Given the description of an element on the screen output the (x, y) to click on. 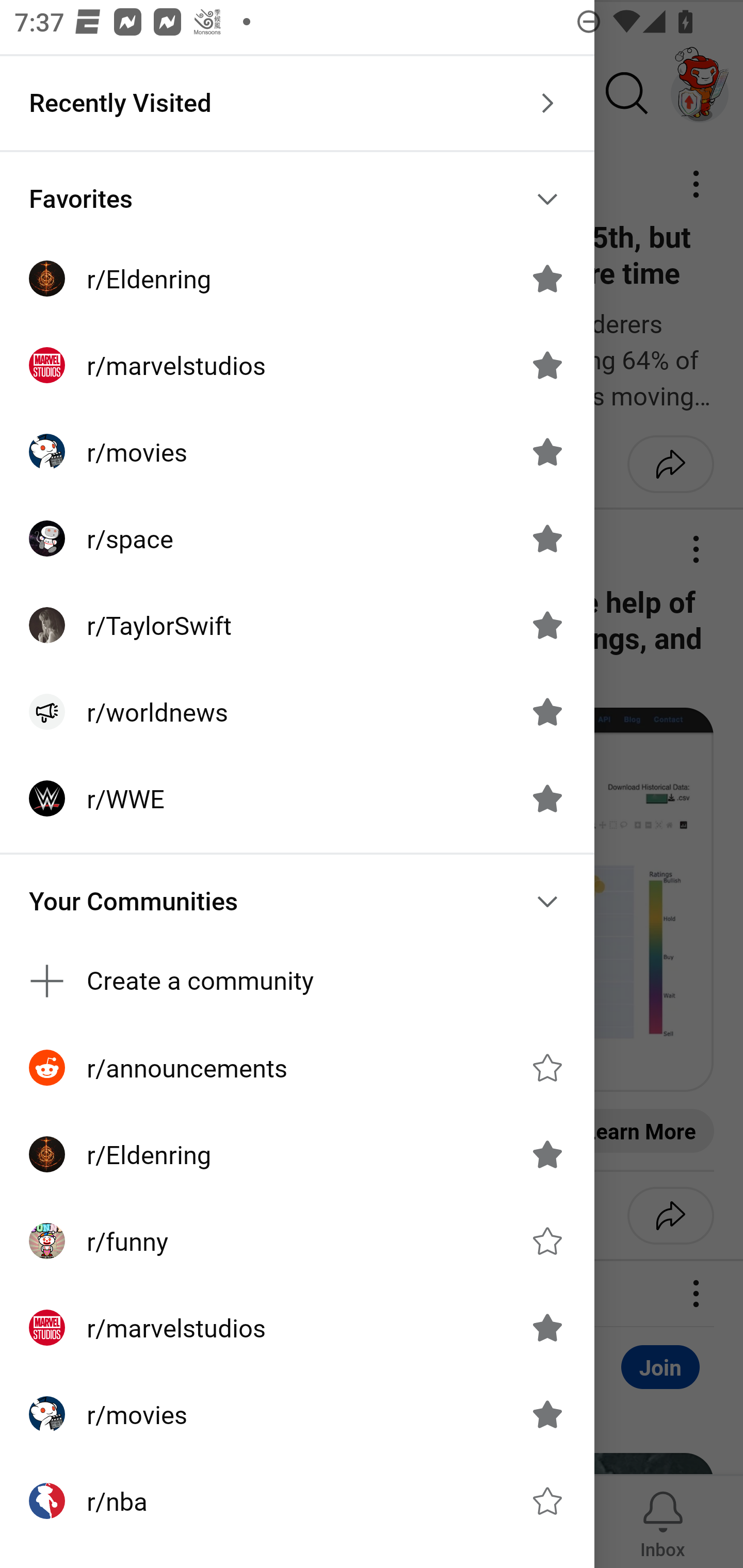
Recently Visited (297, 103)
Favorites (297, 199)
r/Eldenring Unfavorite r/Eldenring (297, 278)
Unfavorite r/Eldenring (546, 278)
r/marvelstudios Unfavorite r/marvelstudios (297, 365)
Unfavorite r/marvelstudios (546, 365)
r/movies Unfavorite r/movies (297, 452)
Unfavorite r/movies (546, 451)
r/space Unfavorite r/space (297, 538)
Unfavorite r/space (546, 538)
r/TaylorSwift Unfavorite r/TaylorSwift (297, 624)
Unfavorite r/TaylorSwift (546, 624)
r/worldnews Unfavorite r/worldnews (297, 711)
Unfavorite r/worldnews (546, 711)
r/WWE Unfavorite r/WWE (297, 798)
Unfavorite r/WWE (546, 798)
Your Communities (297, 901)
Create a community (297, 980)
r/announcements Favorite r/announcements (297, 1067)
Favorite r/announcements (546, 1067)
r/Eldenring Unfavorite r/Eldenring (297, 1154)
Unfavorite r/Eldenring (546, 1154)
r/funny Favorite r/funny (297, 1240)
Favorite r/funny (546, 1241)
r/marvelstudios Unfavorite r/marvelstudios (297, 1327)
Unfavorite r/marvelstudios (546, 1327)
r/movies Unfavorite r/movies (297, 1414)
Unfavorite r/movies (546, 1414)
r/nba Favorite r/nba (297, 1501)
Favorite r/nba (546, 1501)
